Given the description of an element on the screen output the (x, y) to click on. 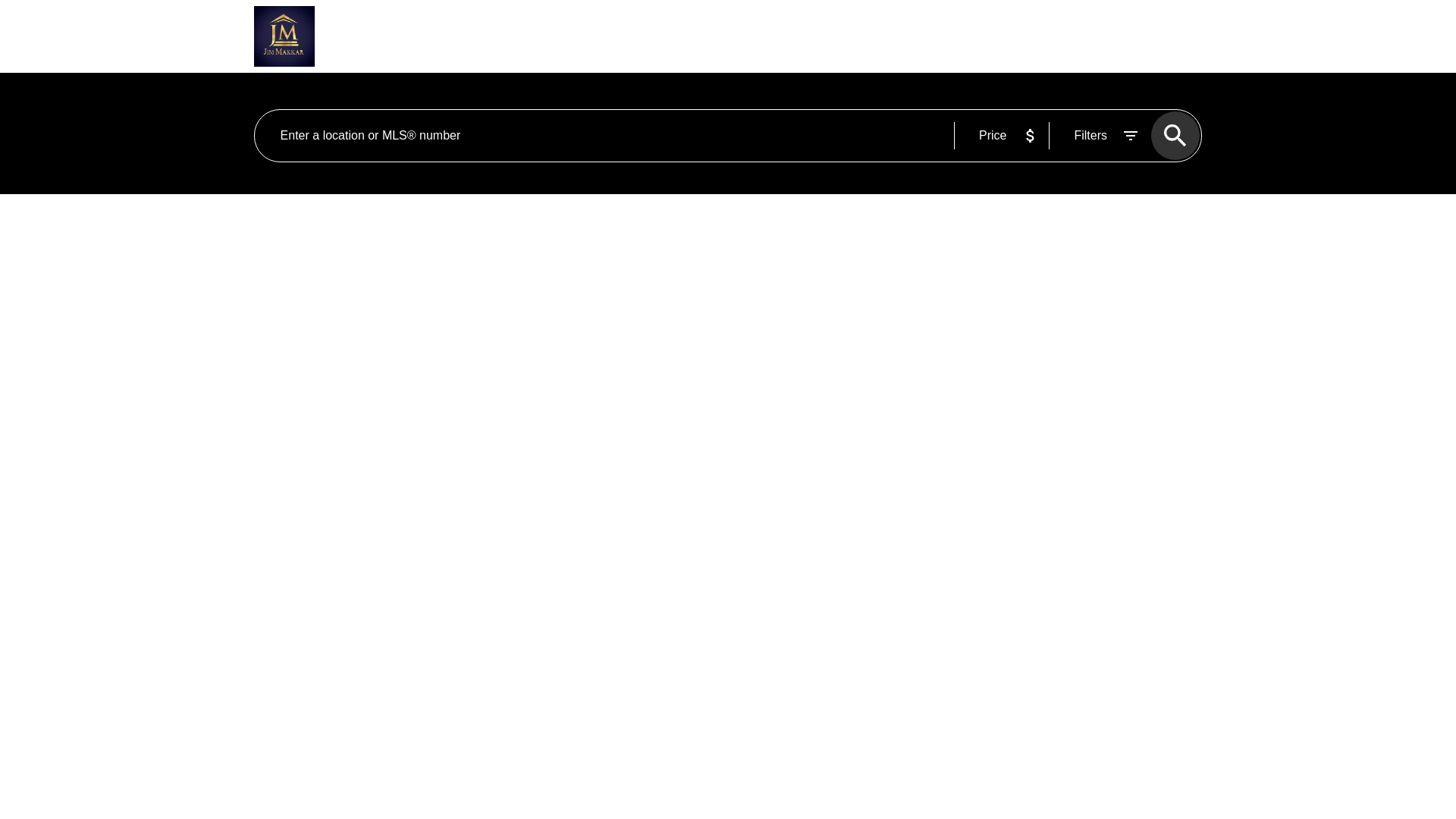
MARKET REPORTS (794, 35)
HOME (430, 35)
EMAIL (1092, 35)
604-807-0293 (1160, 35)
BLOG (885, 35)
